Given the description of an element on the screen output the (x, y) to click on. 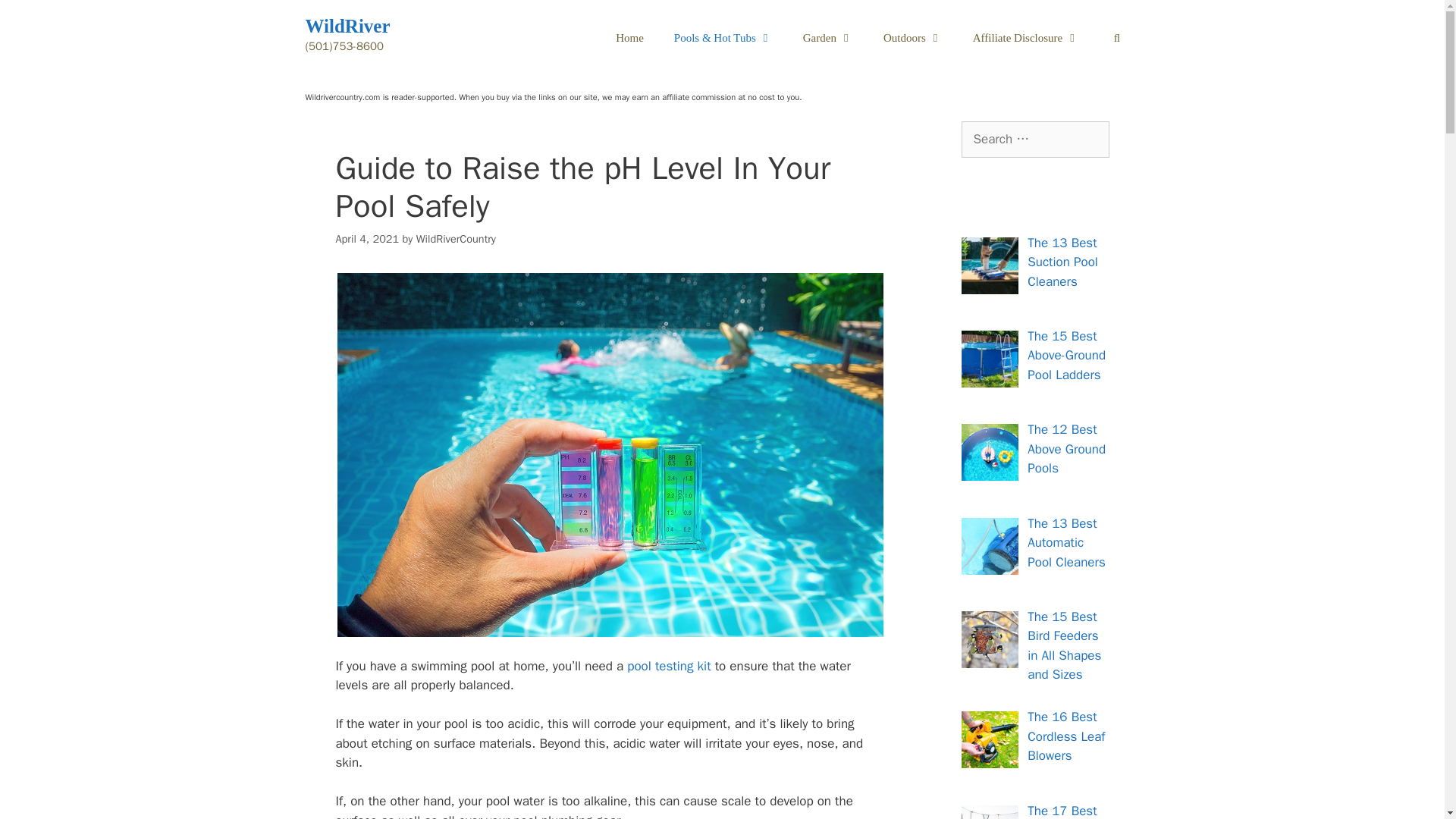
WildRiver (347, 25)
Search for: (1034, 139)
Home (629, 37)
Garden (827, 37)
View all posts by WildRiverCountry (456, 238)
